Given the description of an element on the screen output the (x, y) to click on. 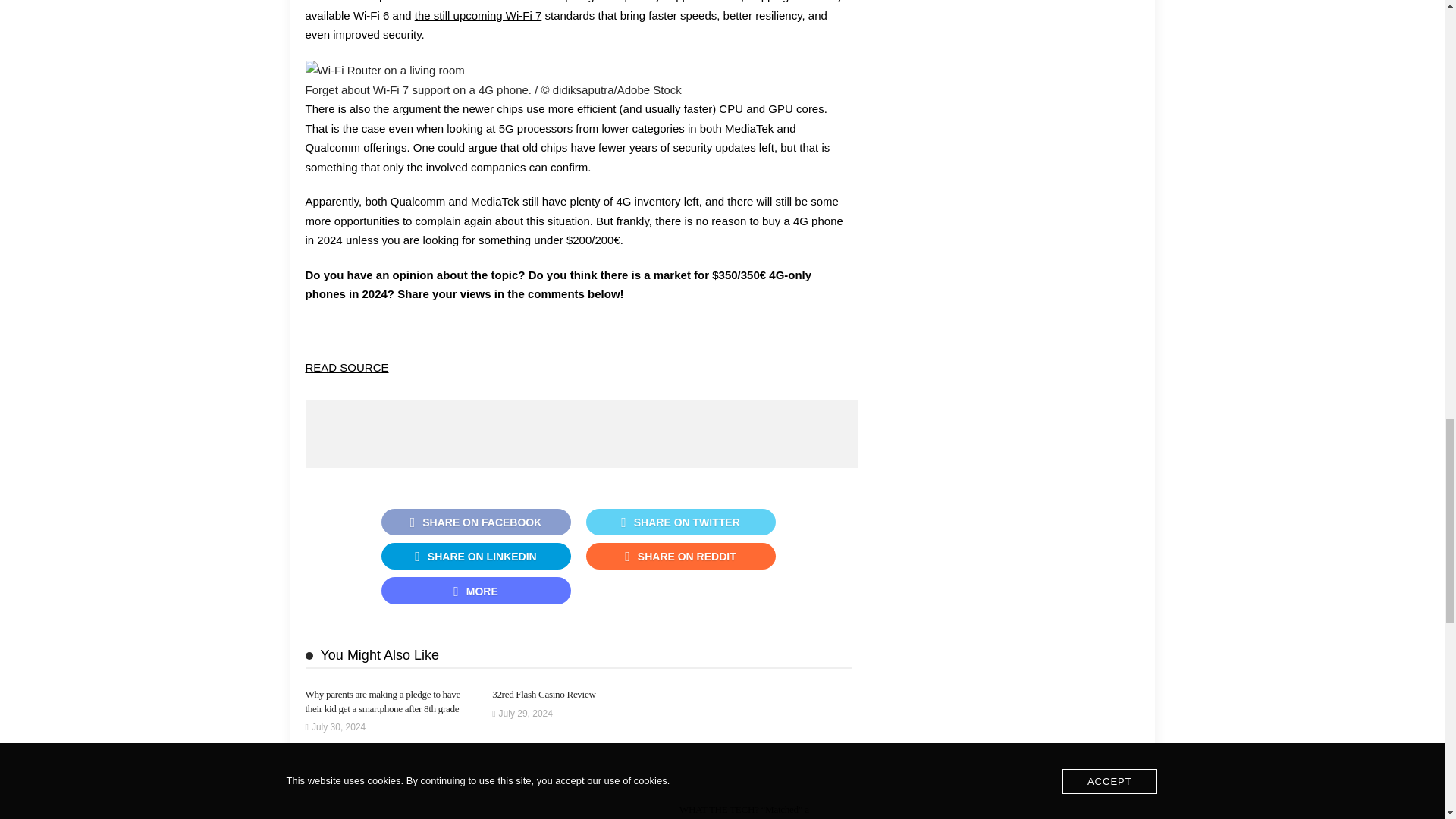
32red Flash Casino Review (543, 694)
Wi-Fi Router on a living room (384, 70)
